Given the description of an element on the screen output the (x, y) to click on. 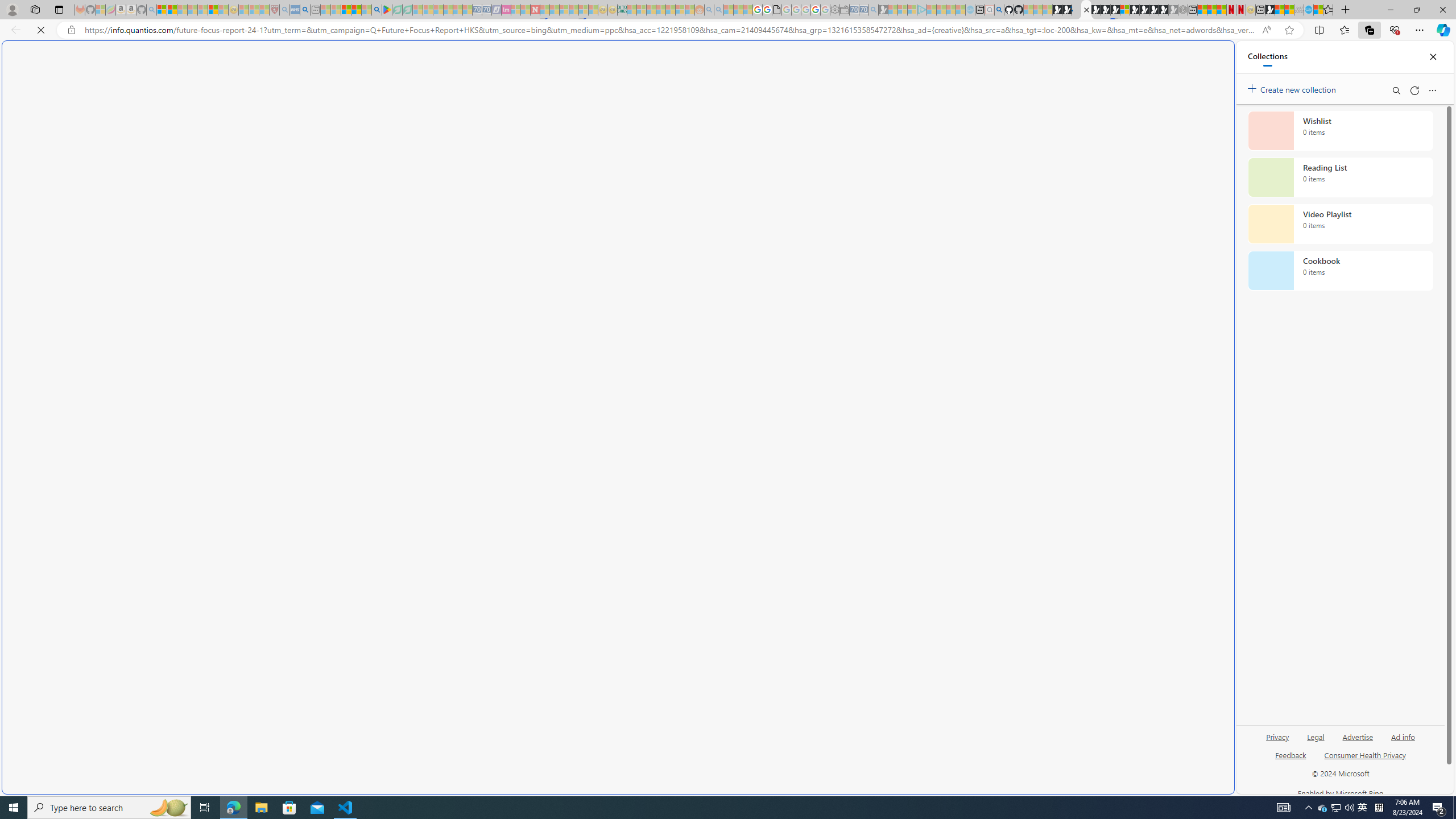
Sign in to your account (1124, 9)
